Given the description of an element on the screen output the (x, y) to click on. 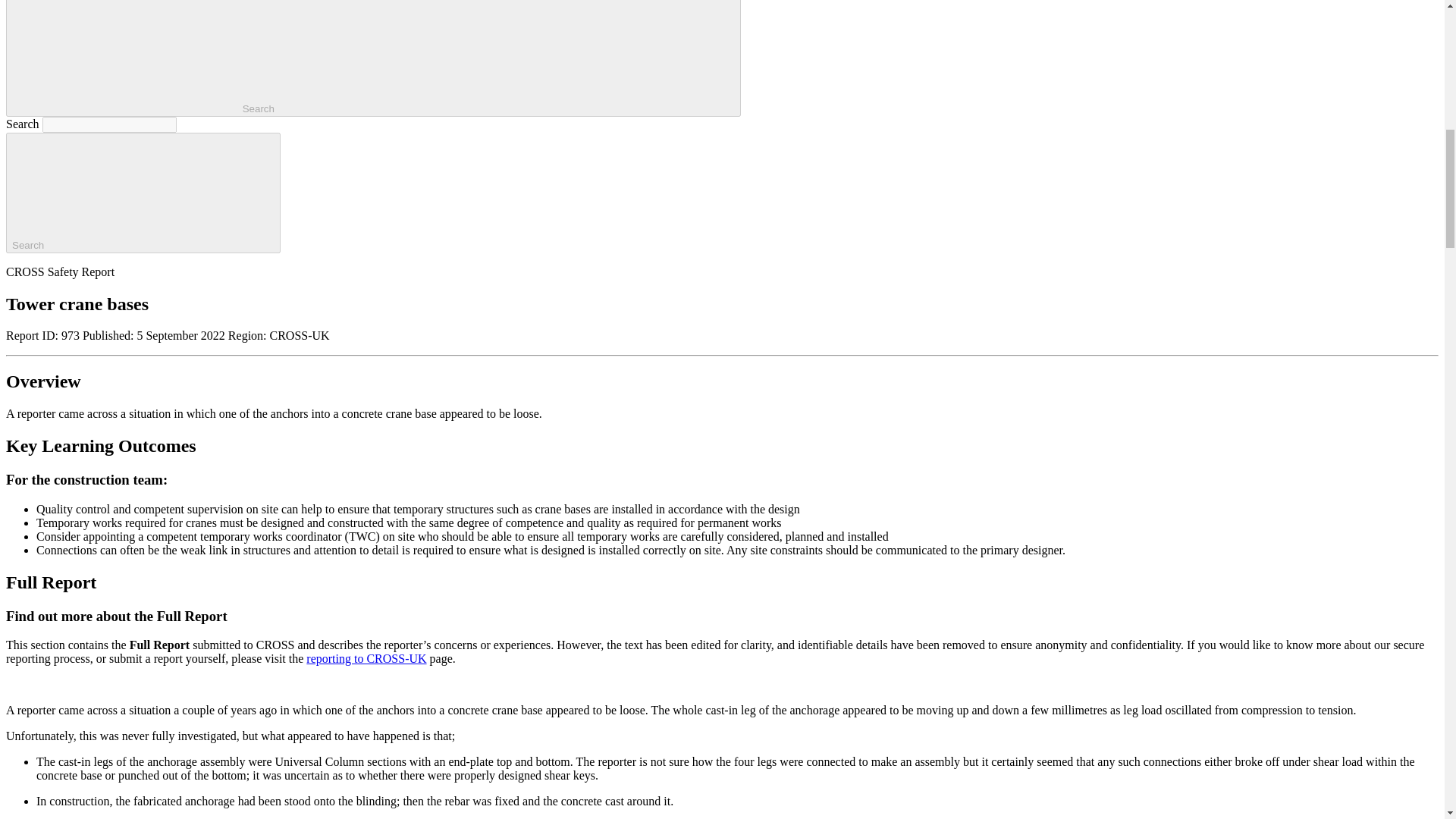
Search (373, 58)
reporting to CROSS-UK (365, 658)
Search (143, 192)
